Given the description of an element on the screen output the (x, y) to click on. 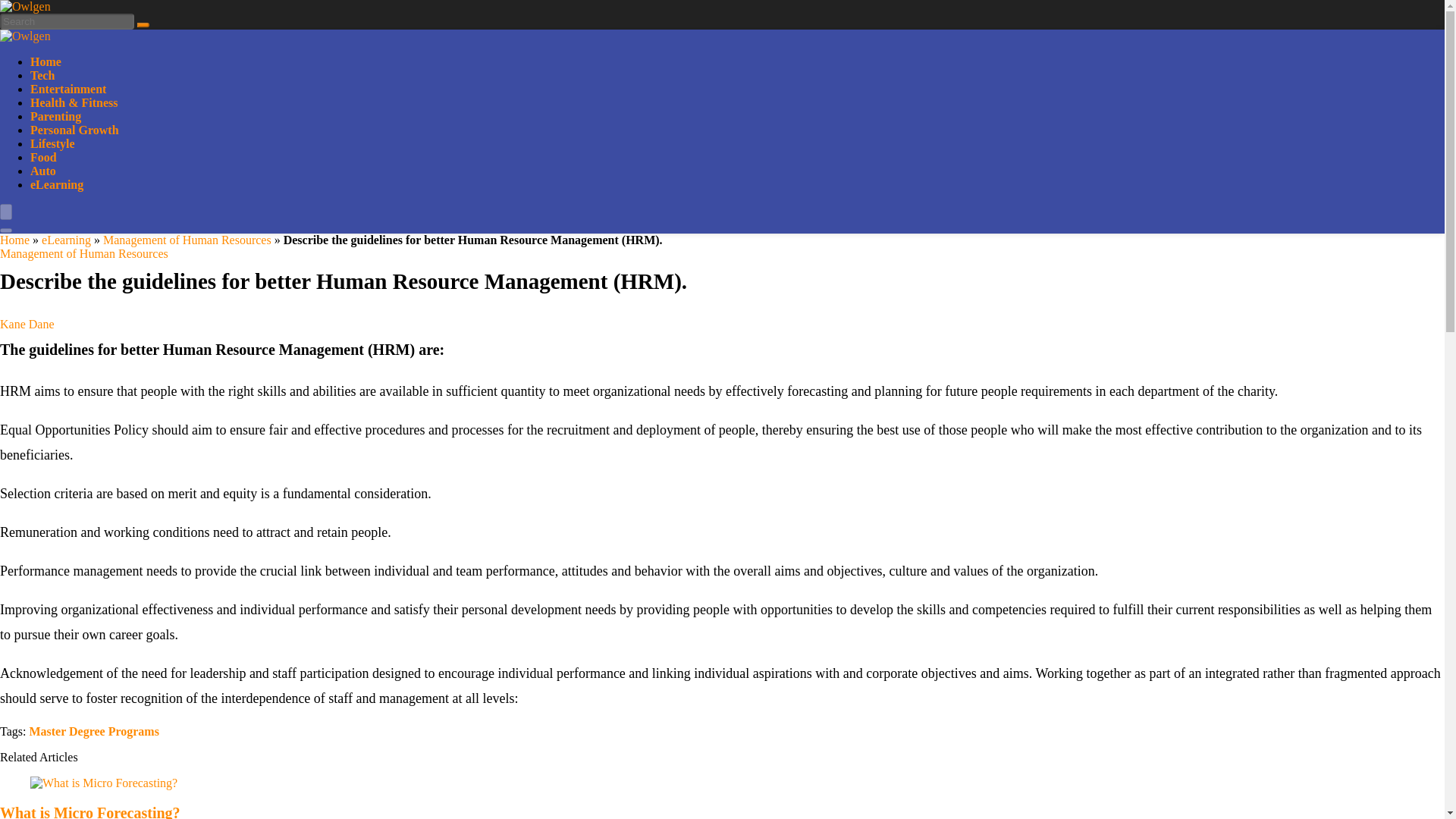
eLearning (66, 239)
Tech (42, 74)
Food (43, 156)
Home (45, 61)
View all posts in Management of Human Resources (84, 253)
Kane Dane (27, 323)
Personal Growth (74, 129)
Management of Human Resources (186, 239)
Management of Human Resources (84, 253)
Lifestyle (52, 143)
Home (14, 239)
Master Degree Programs (93, 730)
What is Micro Forecasting? (90, 811)
Entertainment (68, 88)
Parenting (55, 115)
